Given the description of an element on the screen output the (x, y) to click on. 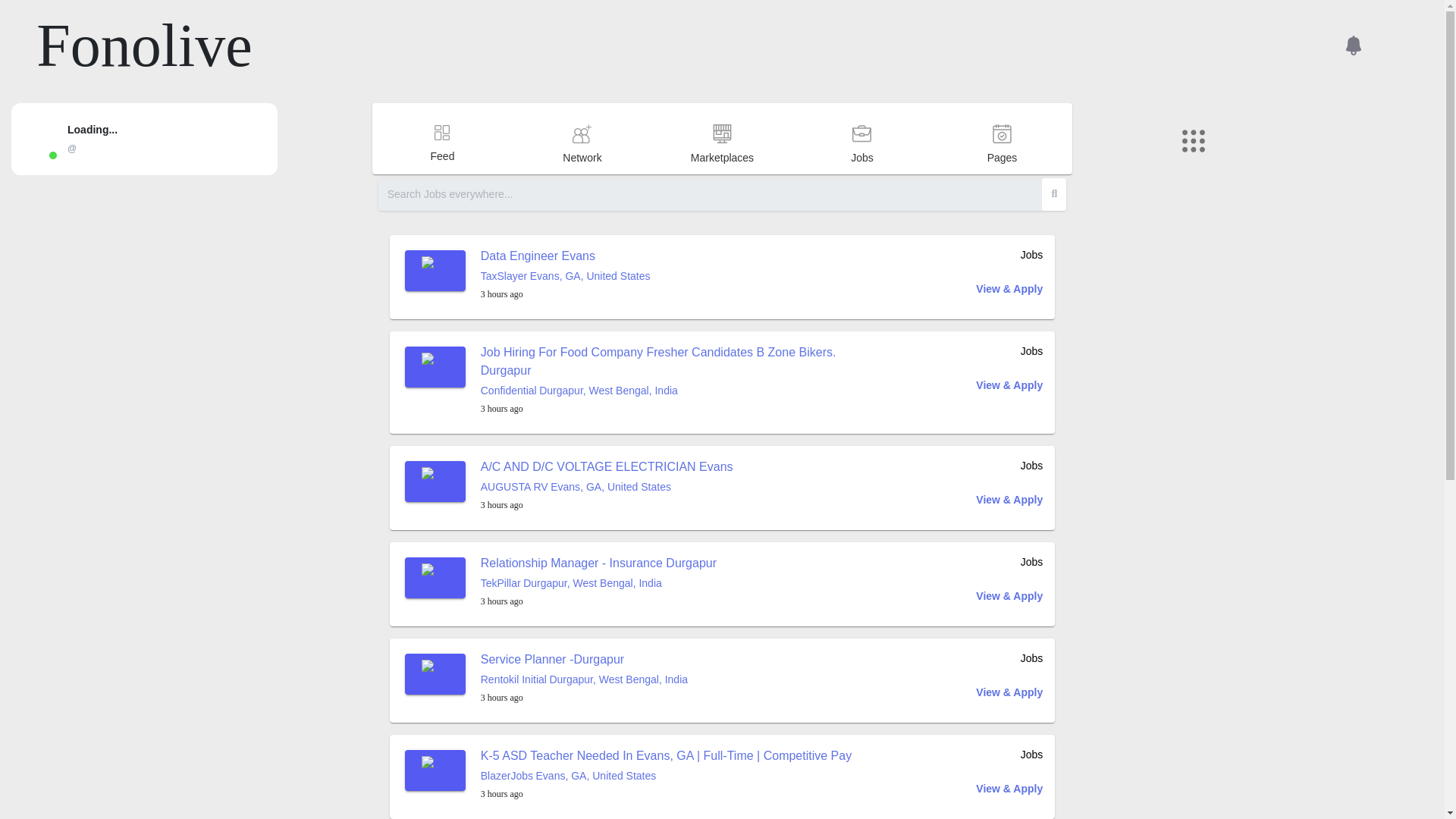
Data Engineer Evans (537, 255)
TaxSlayer (503, 275)
Marketplaces (721, 173)
AUGUSTA RV (514, 486)
Evans, GA, United States (610, 486)
TekPillar (500, 582)
Fonolive (143, 45)
Service Planner -Durgapur (552, 658)
Relationship Manager - Insurance Durgapur (598, 562)
Confidential (508, 390)
